Given the description of an element on the screen output the (x, y) to click on. 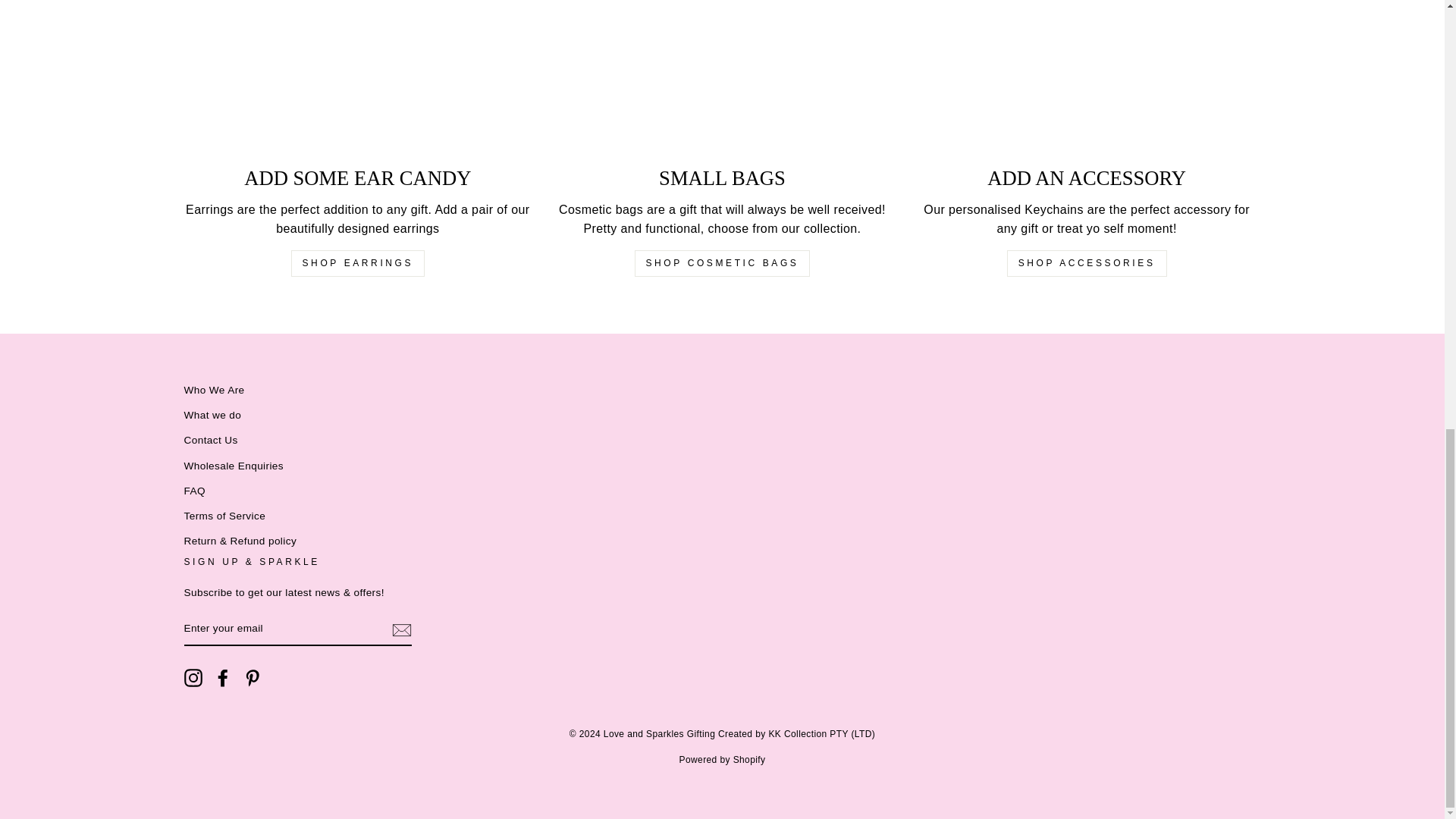
Love and Sparkles Gifting on Instagram (192, 678)
Love and Sparkles Gifting on Facebook (222, 678)
Love and Sparkles Gifting on Pinterest (251, 678)
